Given the description of an element on the screen output the (x, y) to click on. 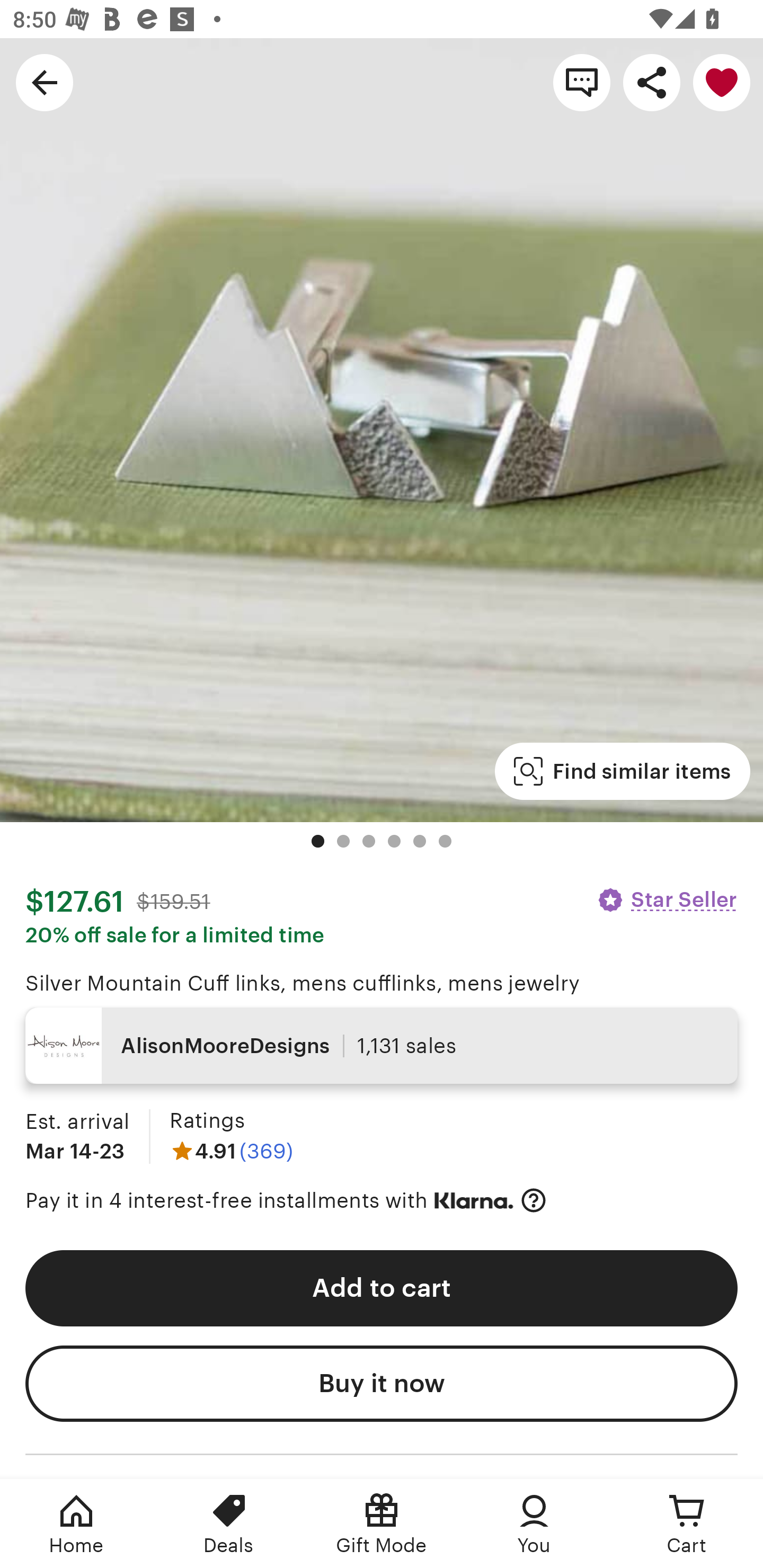
Navigate up (44, 81)
Contact shop (581, 81)
Share (651, 81)
Find similar items (622, 771)
Star Seller (666, 899)
AlisonMooreDesigns 1,131 sales (381, 1045)
Ratings (206, 1120)
4.91 (369) (231, 1150)
Add to cart (381, 1287)
Buy it now (381, 1383)
Home (76, 1523)
Gift Mode (381, 1523)
You (533, 1523)
Cart (686, 1523)
